Given the description of an element on the screen output the (x, y) to click on. 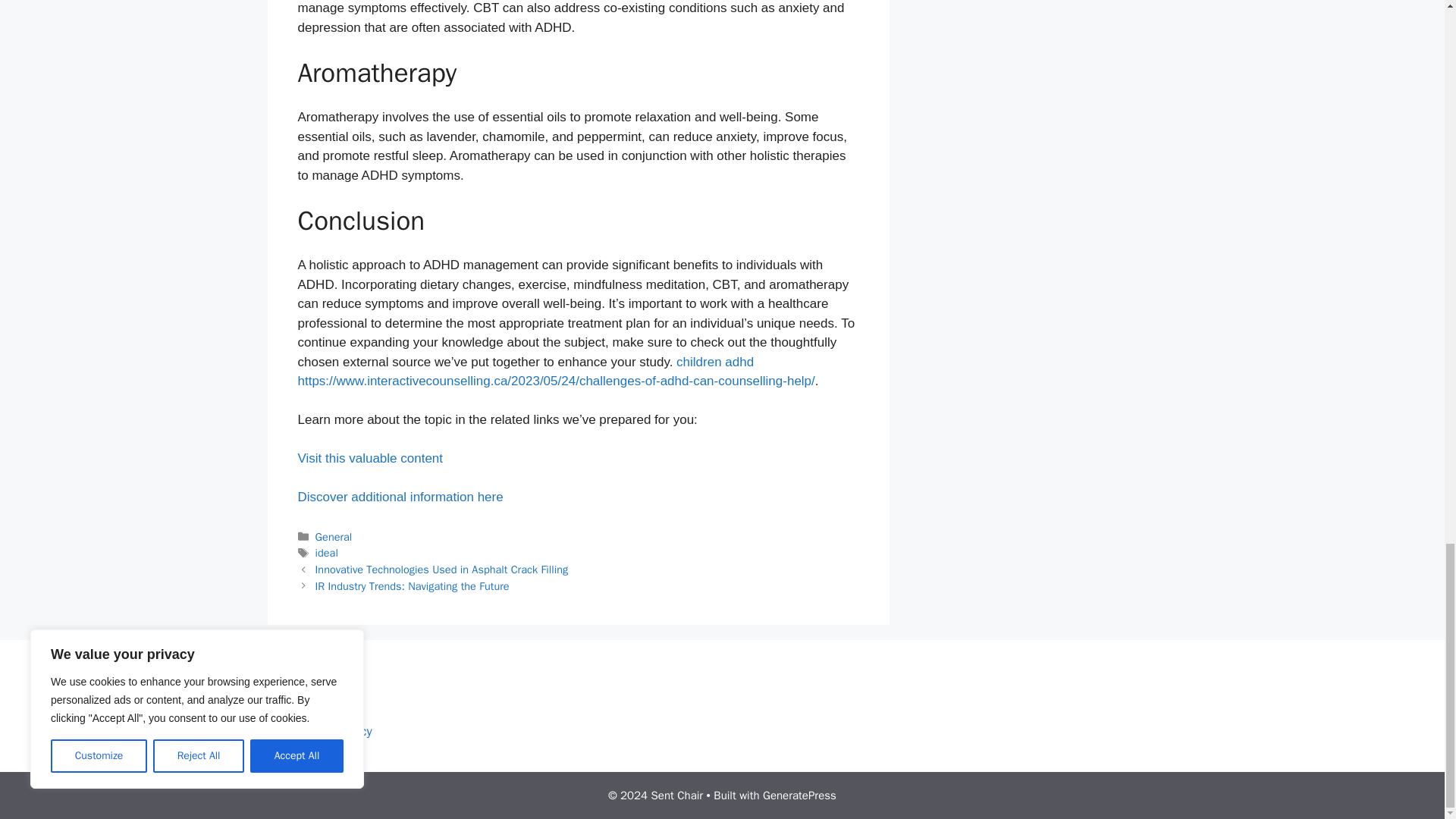
Discover additional information here (399, 496)
IR Industry Trends: Navigating the Future (412, 585)
Visit this valuable content (369, 458)
ideal (326, 552)
General (333, 536)
Innovative Technologies Used in Asphalt Crack Filling (442, 569)
